Given the description of an element on the screen output the (x, y) to click on. 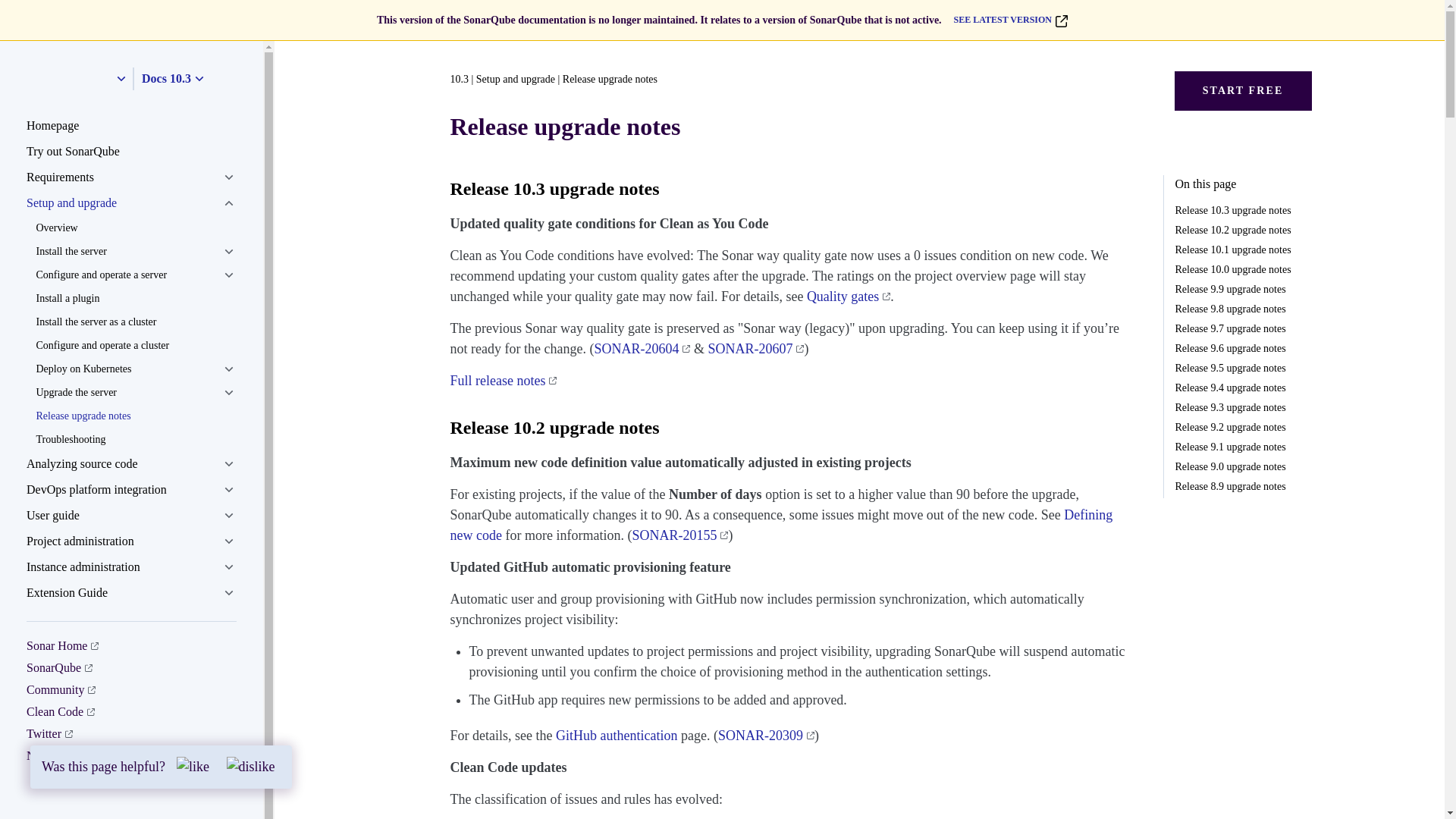
Release upgrade notes (135, 415)
See latest version (1004, 19)
Analyzing source code (131, 463)
START FREE (1242, 90)
Troubleshooting (135, 439)
Try out SonarQube (131, 151)
Upgrade the server (135, 392)
Clean Code (60, 711)
Sonar Home (62, 645)
Project administration (131, 541)
Instance administration (131, 566)
Docs 10.3 (174, 78)
Release 9.6 upgrade notes (1242, 348)
Release upgrade notes (135, 415)
Clean Code (60, 711)
